Given the description of an element on the screen output the (x, y) to click on. 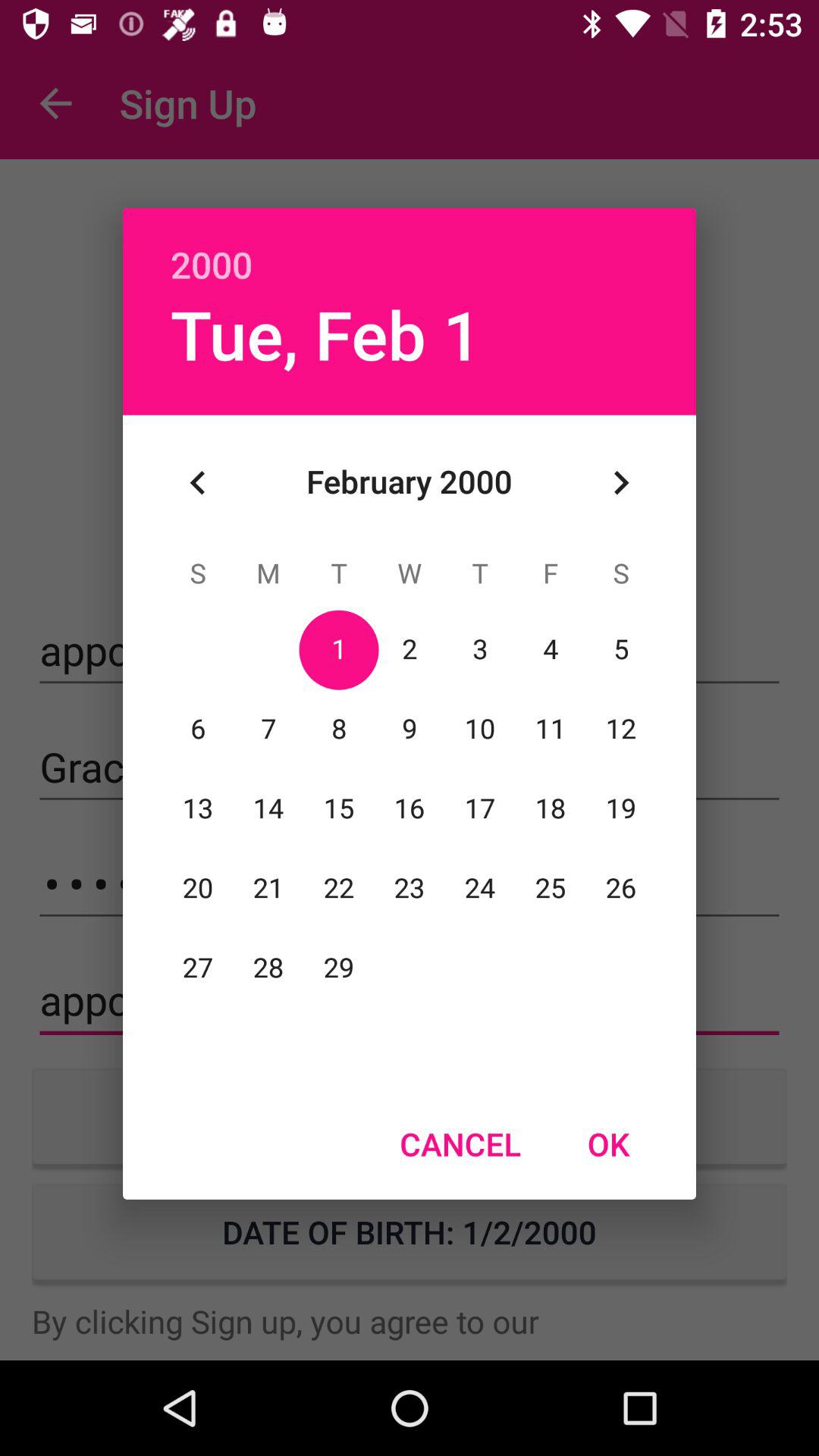
flip to the 2000 icon (409, 248)
